Given the description of an element on the screen output the (x, y) to click on. 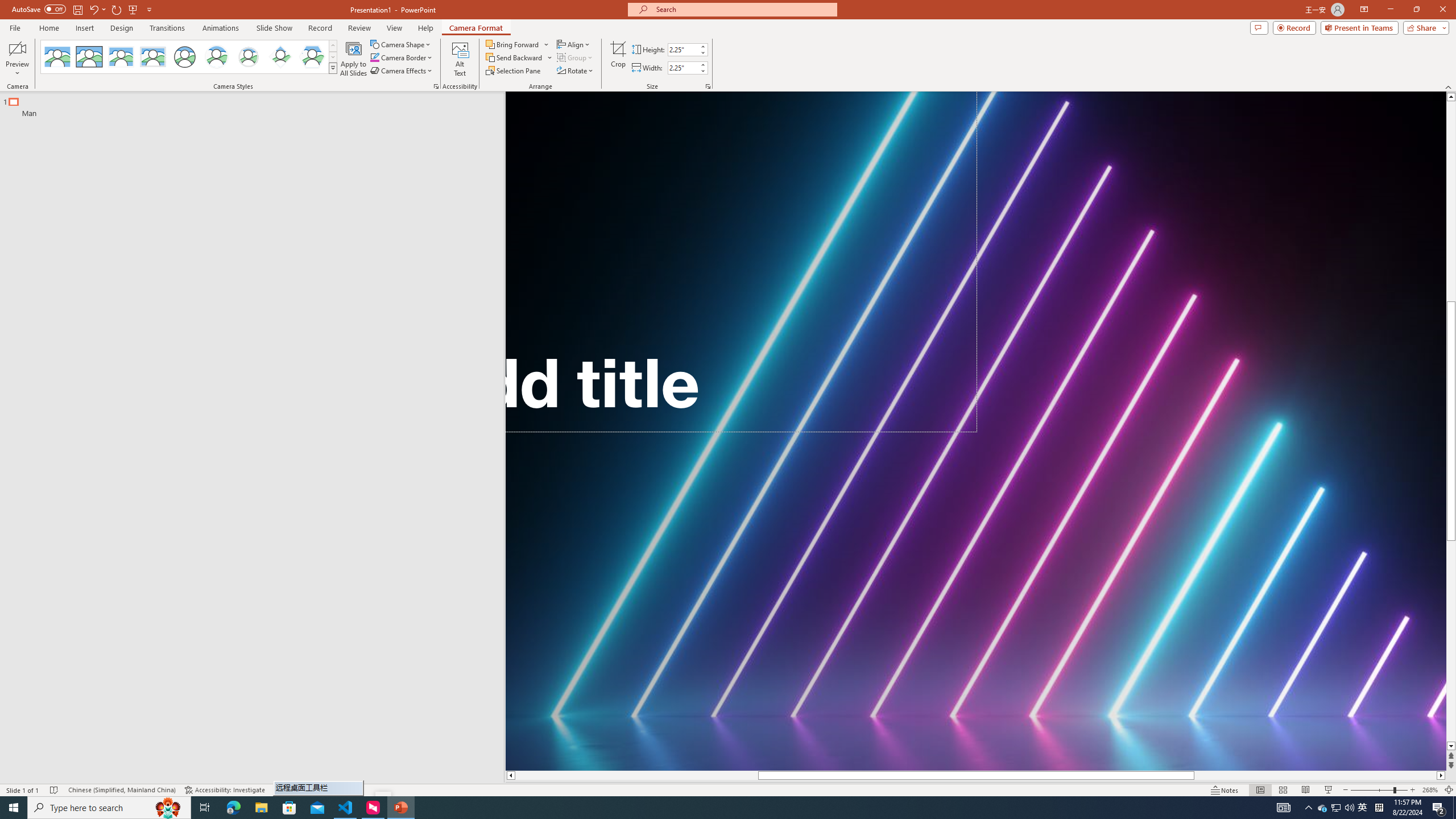
Apply to All Slides (353, 58)
Center Shadow Rectangle (120, 56)
Soft Edge Circle (248, 56)
Camera Styles (333, 67)
Camera Format (475, 28)
